Given the description of an element on the screen output the (x, y) to click on. 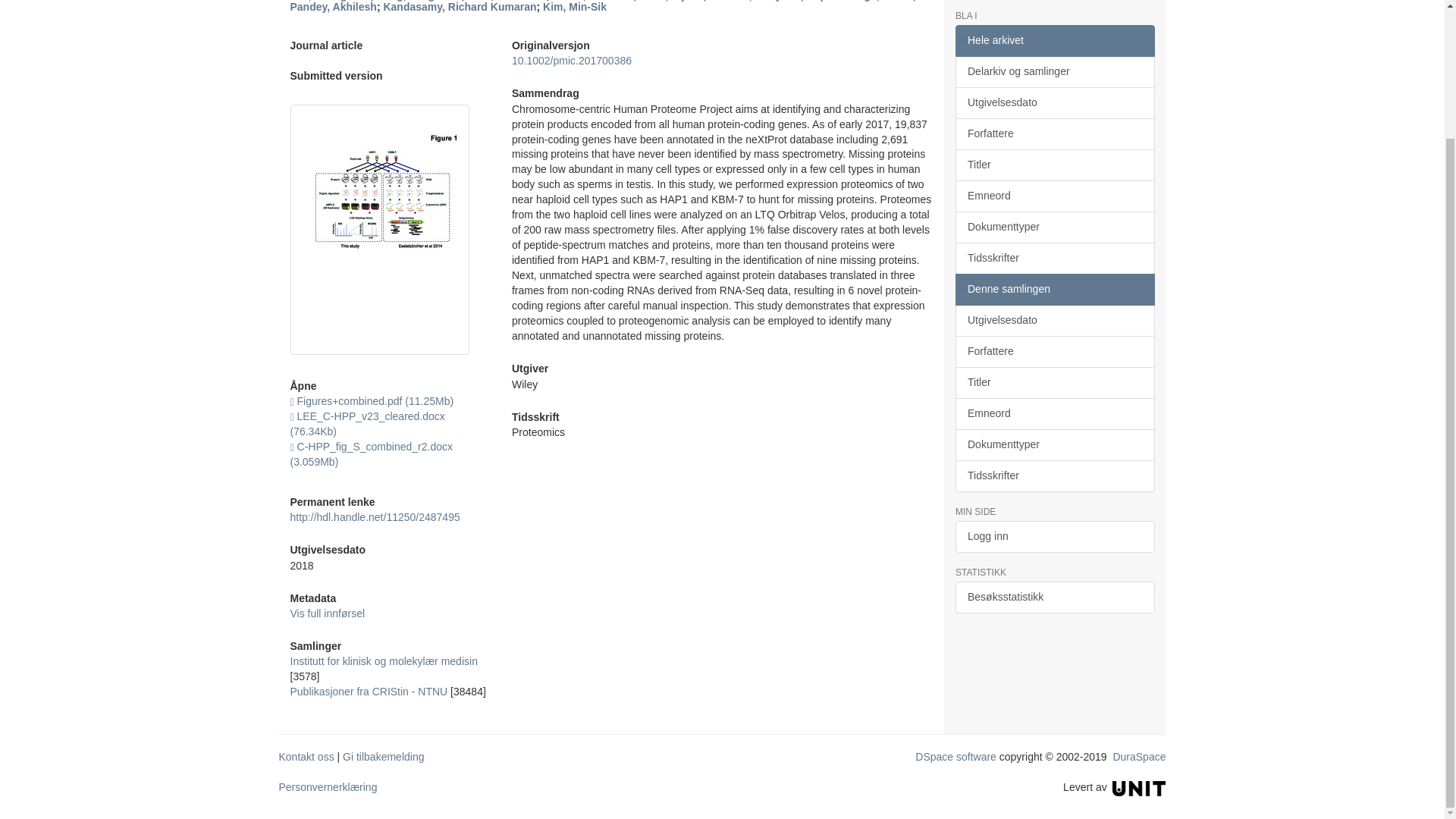
Kandasamy, Richard Kumaran (458, 6)
Superti-Furga, Giulio (859, 0)
Bennett, Keiryn L. (755, 0)
Song, JongKeon (419, 0)
Publikasjoner fra CRIStin - NTNU (367, 691)
Vitko, Dijana (671, 0)
Kim, Min-Sik (575, 6)
Unit (1139, 787)
Pandey, Akhilesh (332, 6)
Lee, Seung-Eun (329, 0)
